Given the description of an element on the screen output the (x, y) to click on. 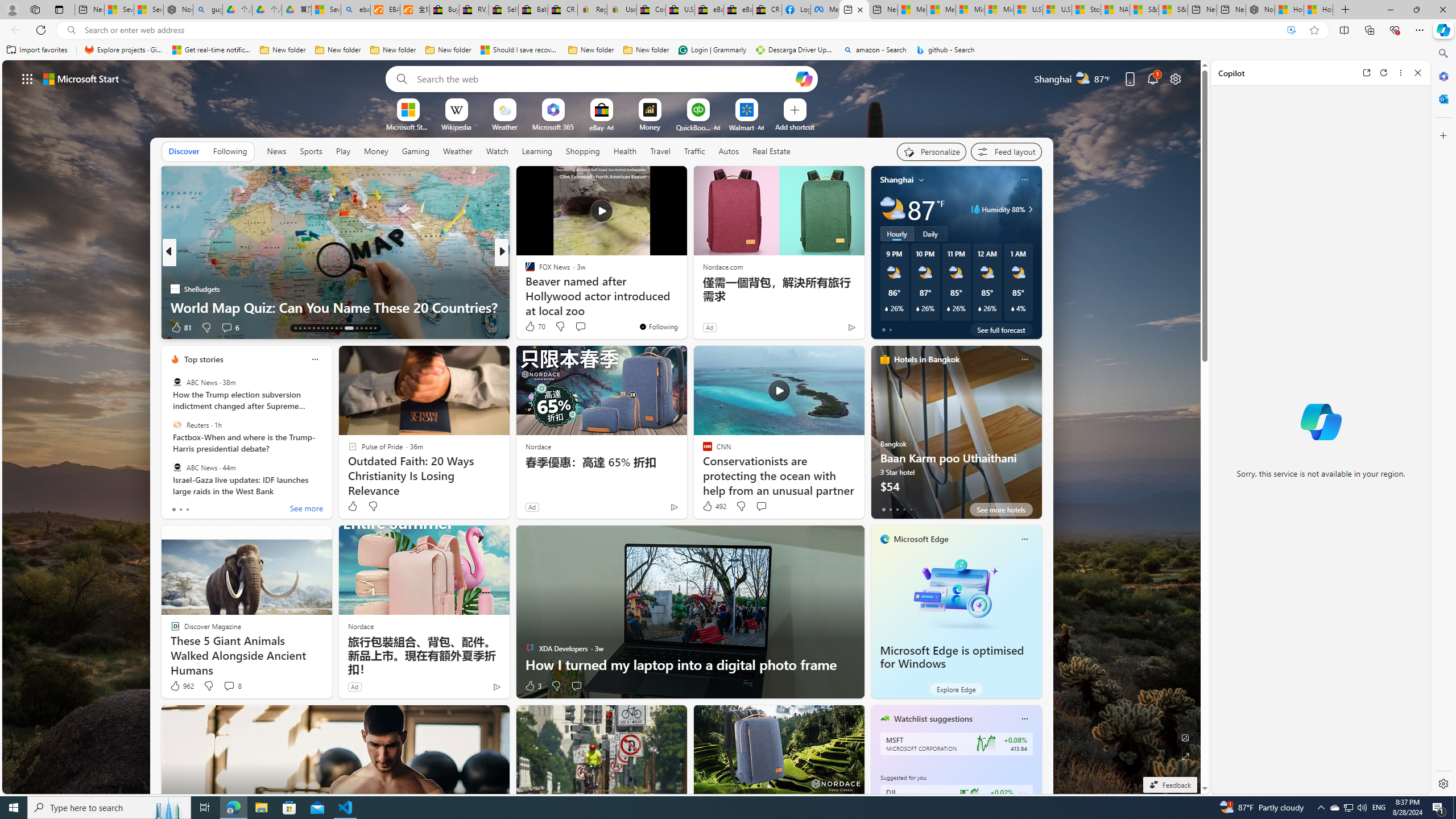
User Privacy Notice | eBay (622, 9)
Register: Create a personal eBay account (591, 9)
Add a site (793, 126)
AutomationID: tab-15 (304, 328)
Workspaces (34, 9)
Start the conversation (576, 685)
Side bar (1443, 418)
Real Estate (771, 151)
Autos (728, 151)
News (276, 151)
Login | Grammarly (712, 49)
Class: icon-img (1024, 718)
